Given the description of an element on the screen output the (x, y) to click on. 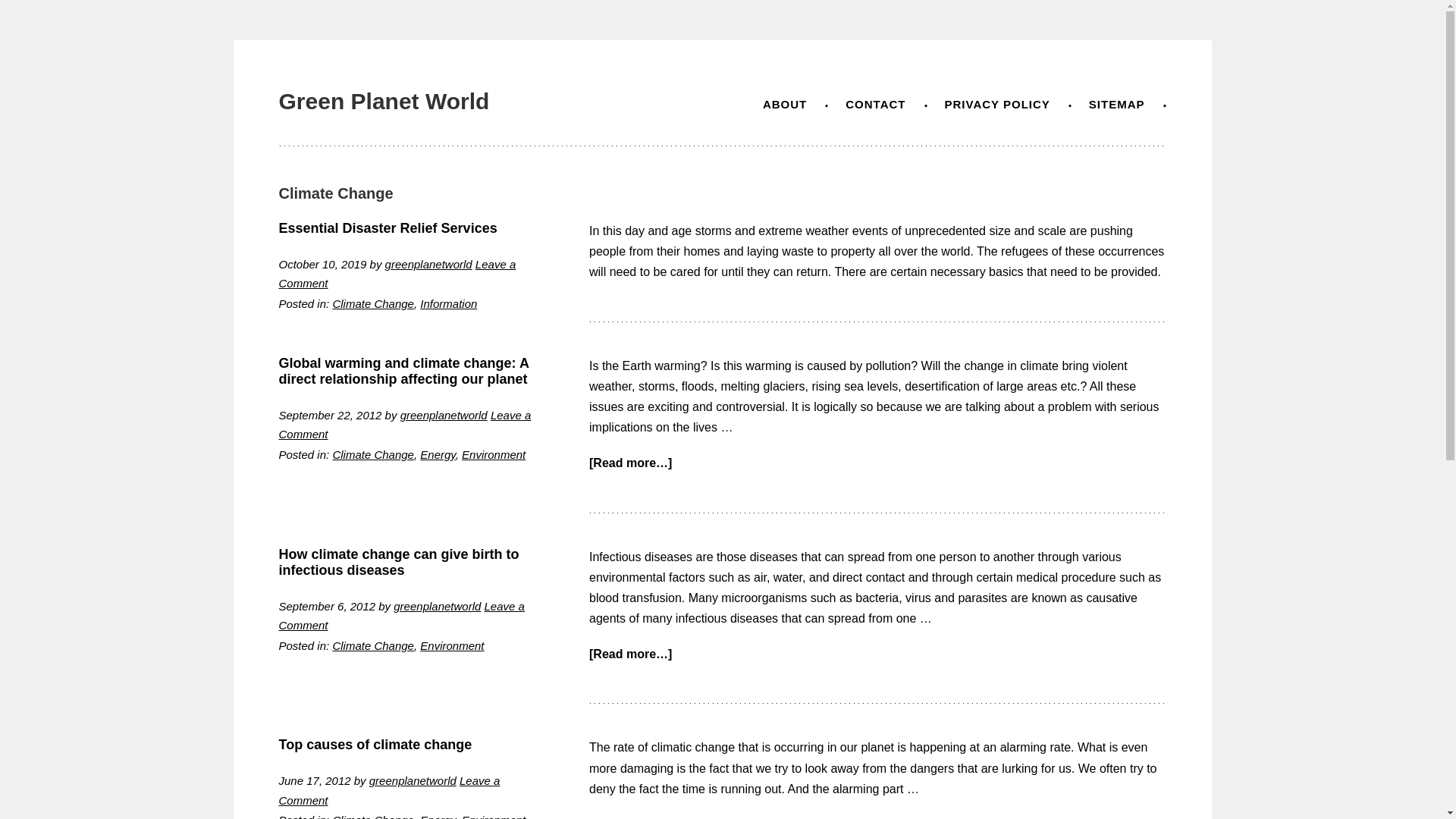
Green Planet World (384, 100)
Energy (437, 454)
Climate Change (372, 816)
ABOUT (784, 103)
Leave a Comment (389, 789)
CONTACT (875, 103)
greenplanetworld (413, 780)
Essential Disaster Relief Services (388, 227)
Posts by greenplanetworld (428, 264)
Energy (437, 816)
